Given the description of an element on the screen output the (x, y) to click on. 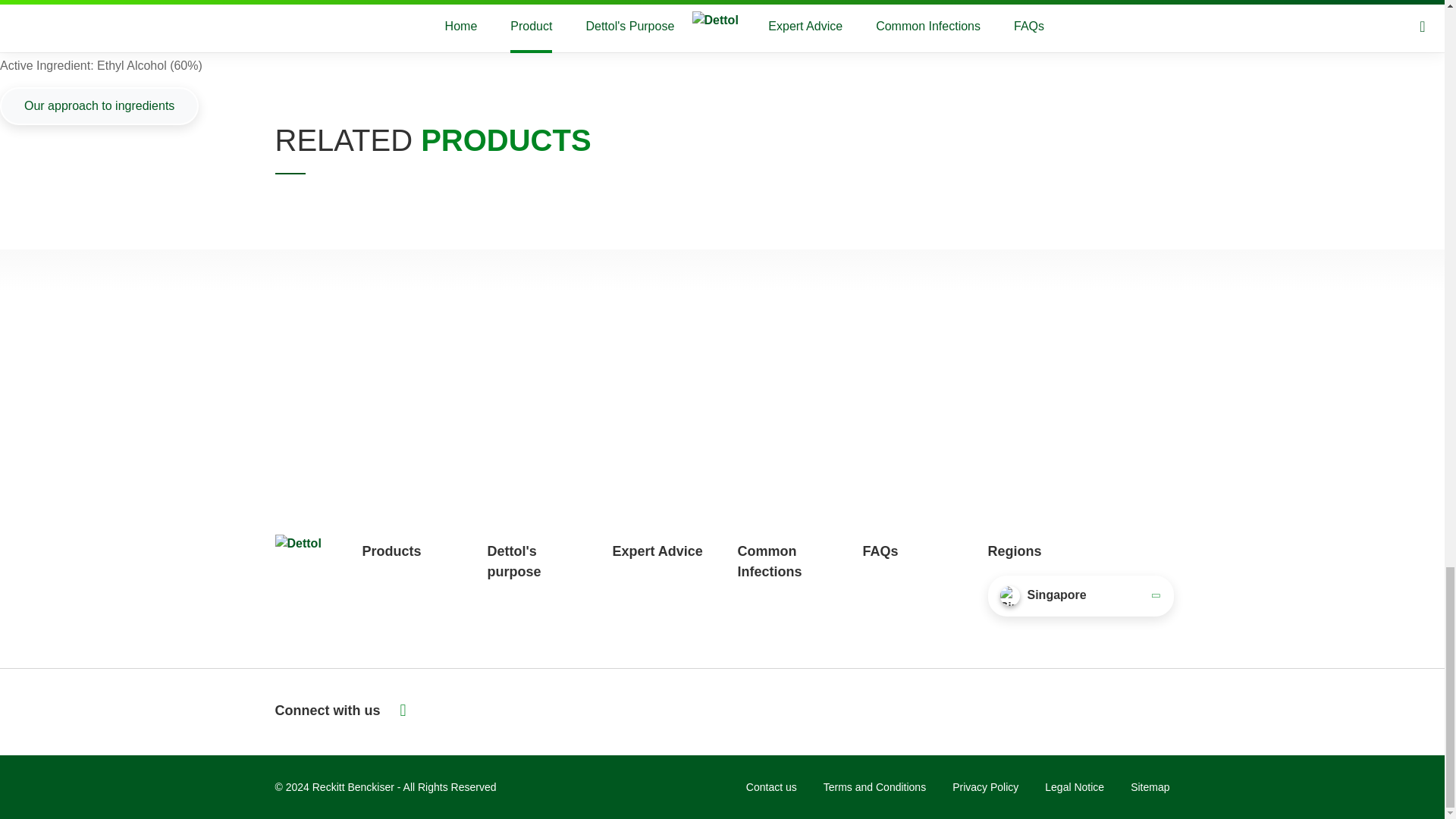
Show more safety tips (721, 7)
Expert Advice (657, 550)
Dettol's purpose (513, 561)
Common Infections (769, 561)
Products (392, 550)
Our approach to ingredients (99, 105)
